Given the description of an element on the screen output the (x, y) to click on. 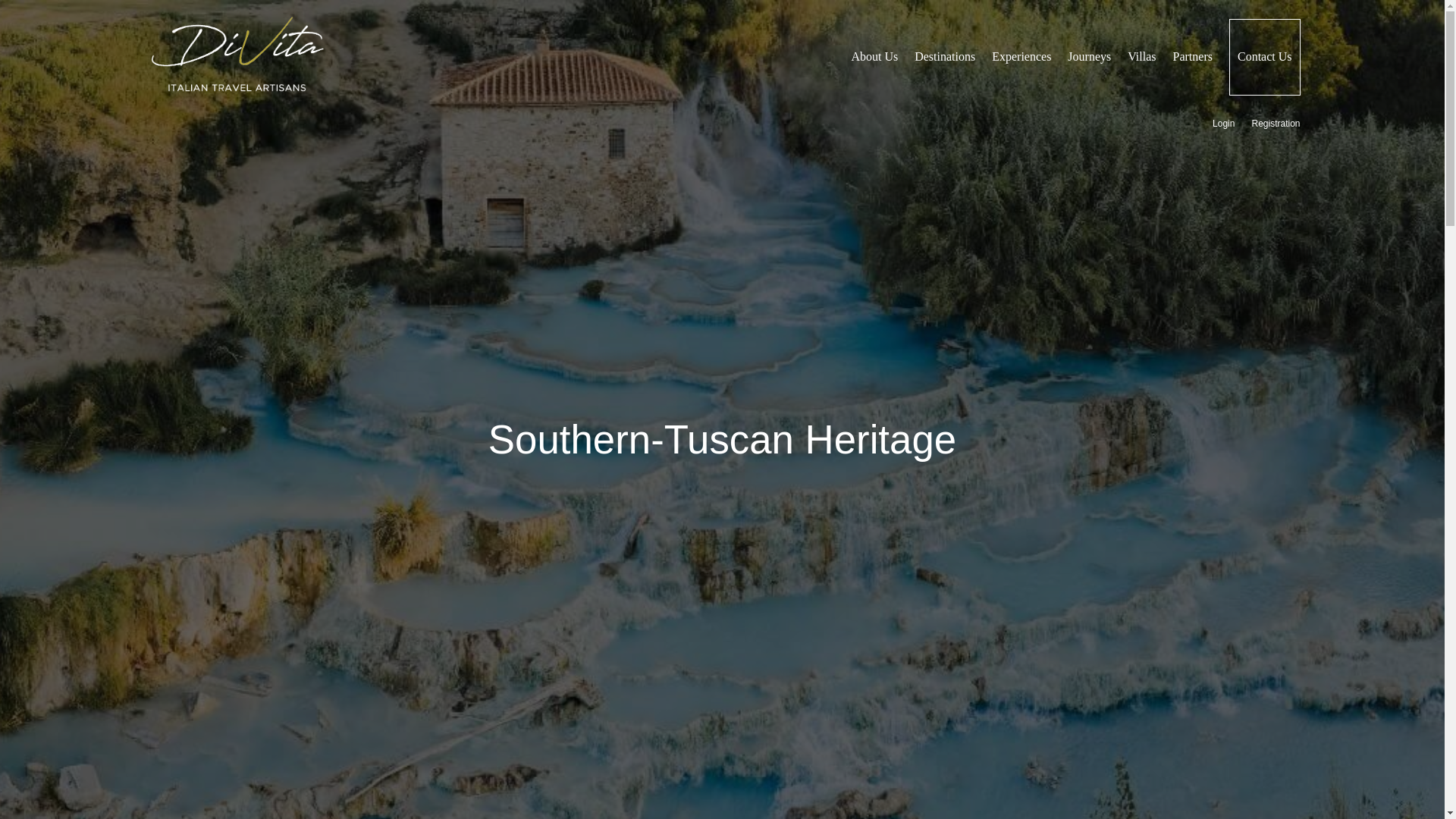
Registration (1275, 126)
Login (1223, 126)
Partners (1192, 57)
About Us (874, 57)
Experiences (1021, 57)
Villas (1141, 57)
Journeys (1088, 57)
Contact Us (1264, 56)
Destinations (944, 57)
